Given the description of an element on the screen output the (x, y) to click on. 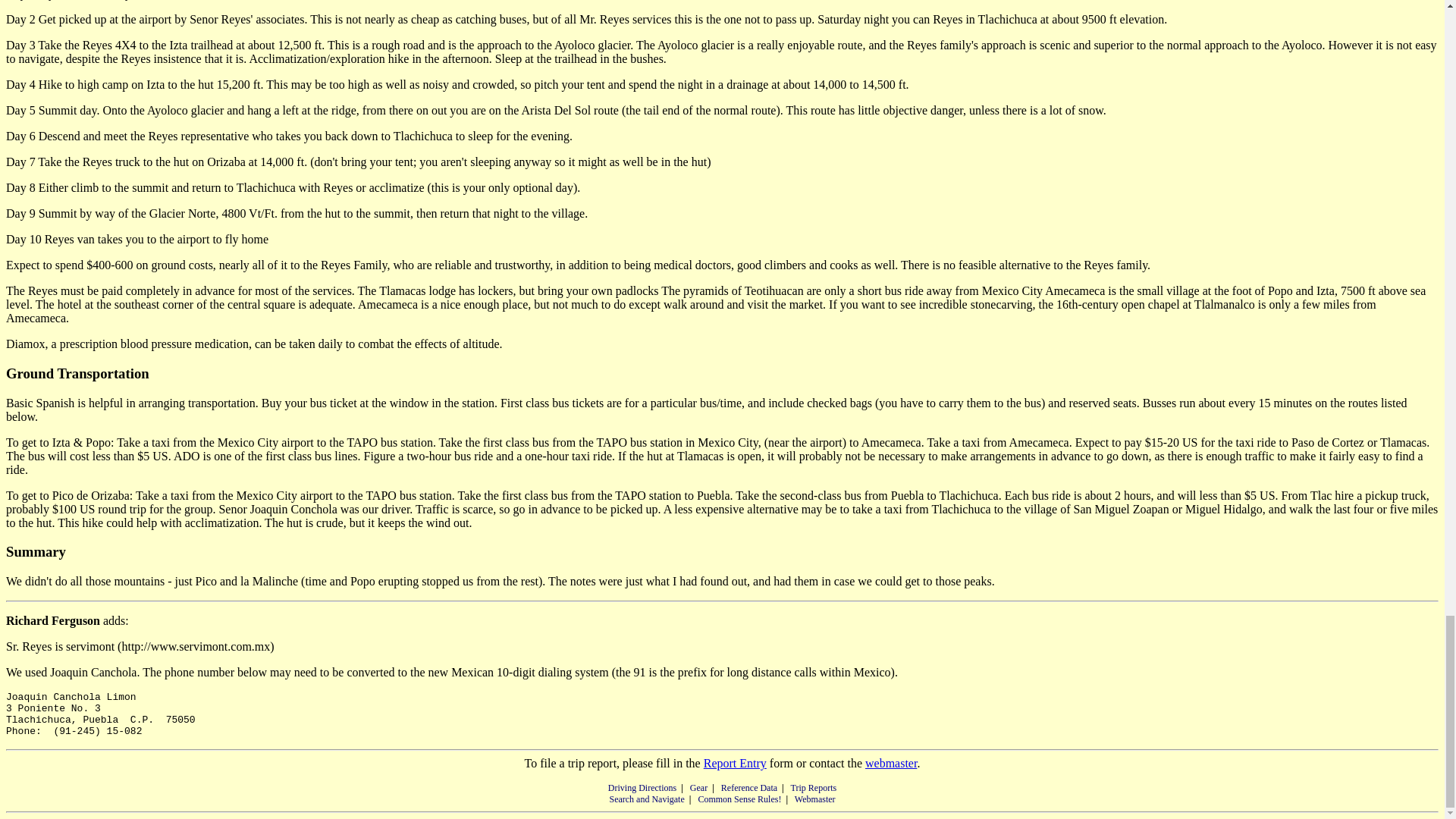
Search and Navigate (646, 798)
Driving Directions (642, 787)
Report Entry (735, 762)
Reference Data (748, 787)
Trip Reports (813, 787)
Webmaster (814, 798)
webmaster (890, 762)
Gear (698, 787)
Common Sense Rules! (738, 798)
